Given the description of an element on the screen output the (x, y) to click on. 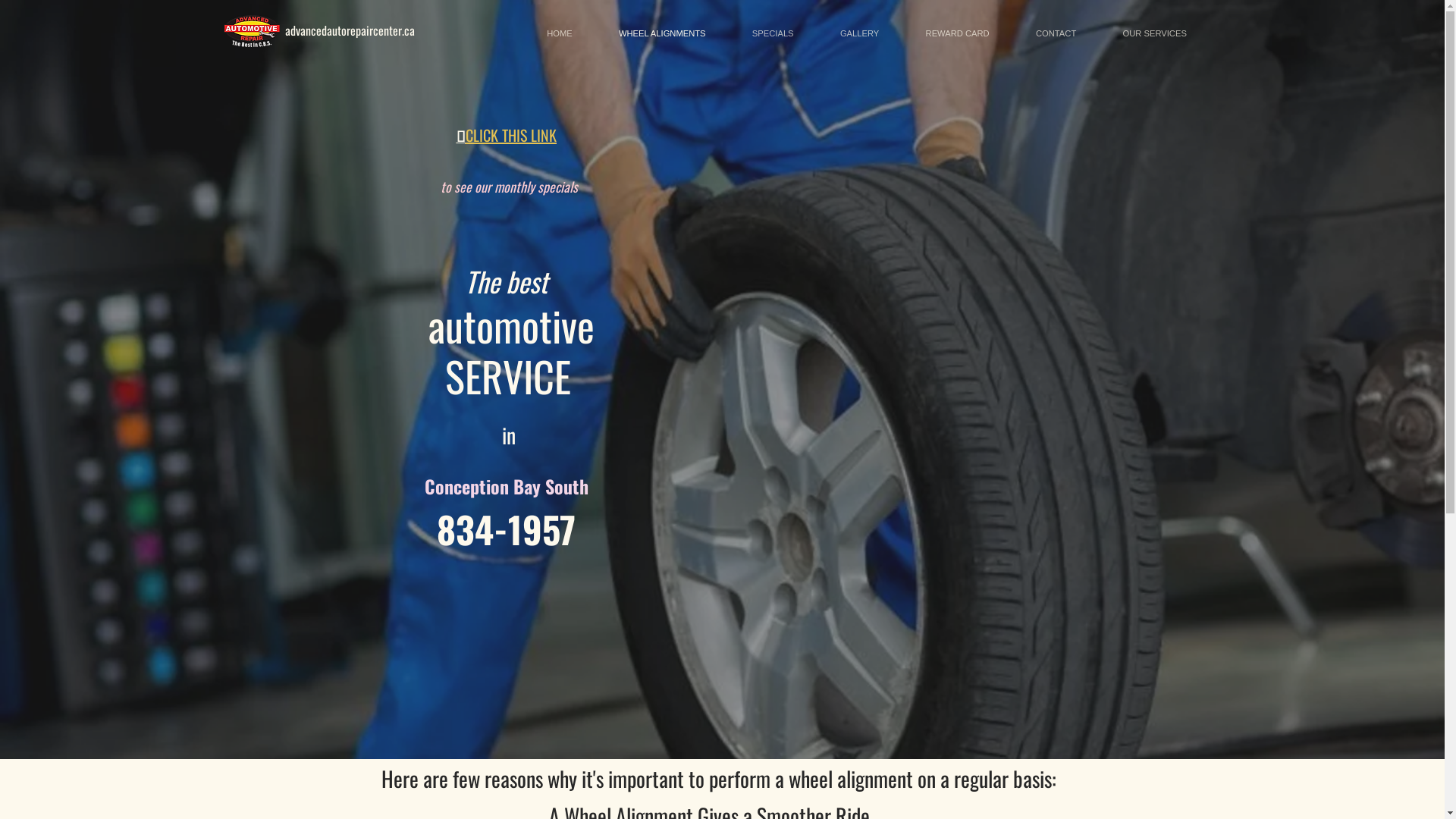
REWARD CARD Element type: text (957, 32)
WHEEL ALIGNMENTS Element type: text (661, 32)
HOME Element type: text (559, 32)
GALLERY Element type: text (859, 32)
OUR SERVICES Element type: text (1154, 32)
SPECIALS Element type: text (772, 32)
CLICK THIS LINK Element type: text (510, 134)
CONTACT Element type: text (1055, 32)
